Given the description of an element on the screen output the (x, y) to click on. 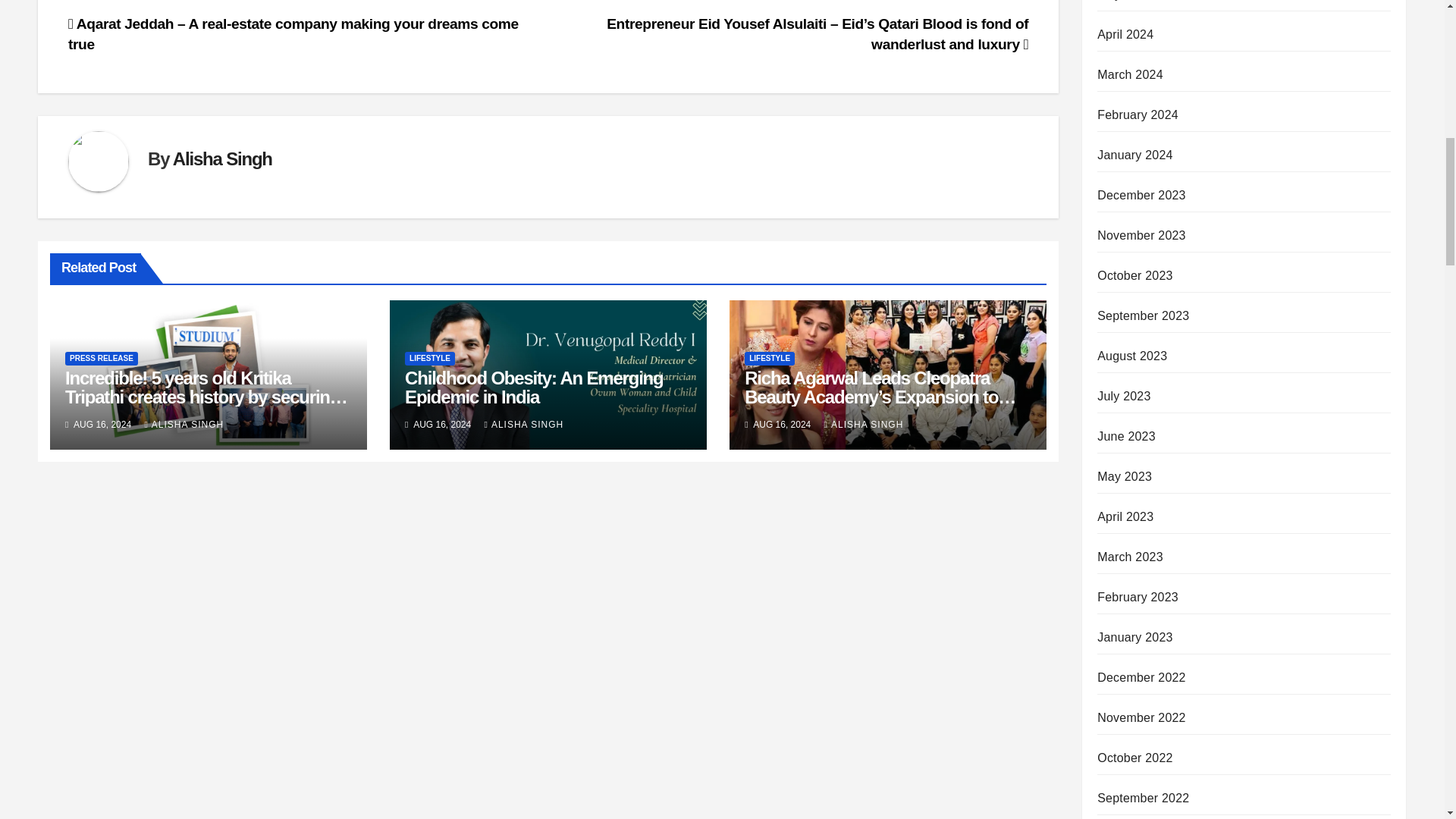
LIFESTYLE (429, 358)
Alisha Singh (222, 158)
ALISHA SINGH (184, 424)
PRESS RELEASE (101, 358)
